Given the description of an element on the screen output the (x, y) to click on. 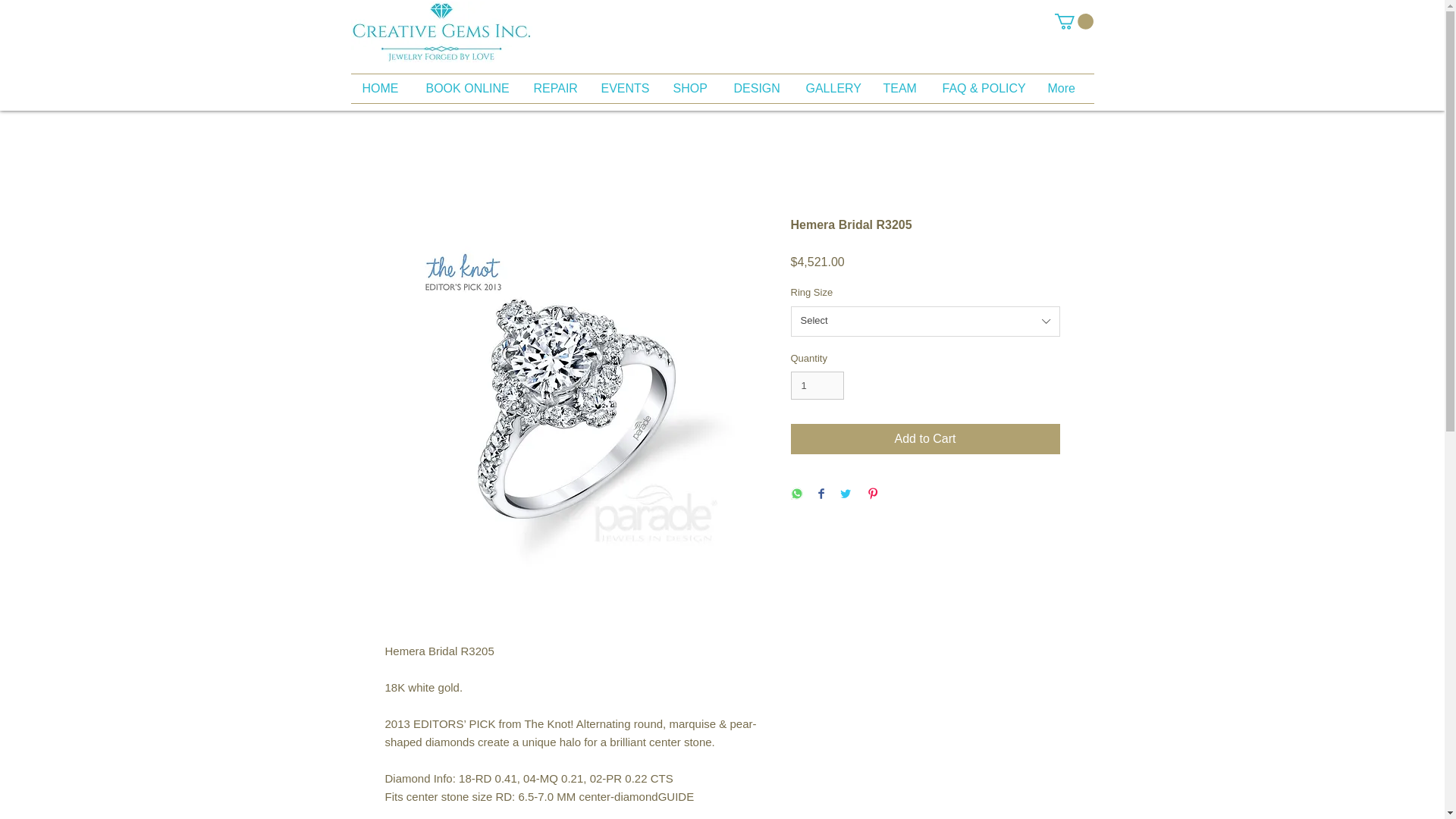
SHOP (691, 88)
EVENTS (625, 88)
HOME (381, 88)
Select (924, 321)
main-logo.jpg (440, 33)
REPAIR (555, 88)
GALLERY (833, 88)
BOOK ONLINE (467, 88)
TEAM (901, 88)
Add to Cart (924, 439)
